Given the description of an element on the screen output the (x, y) to click on. 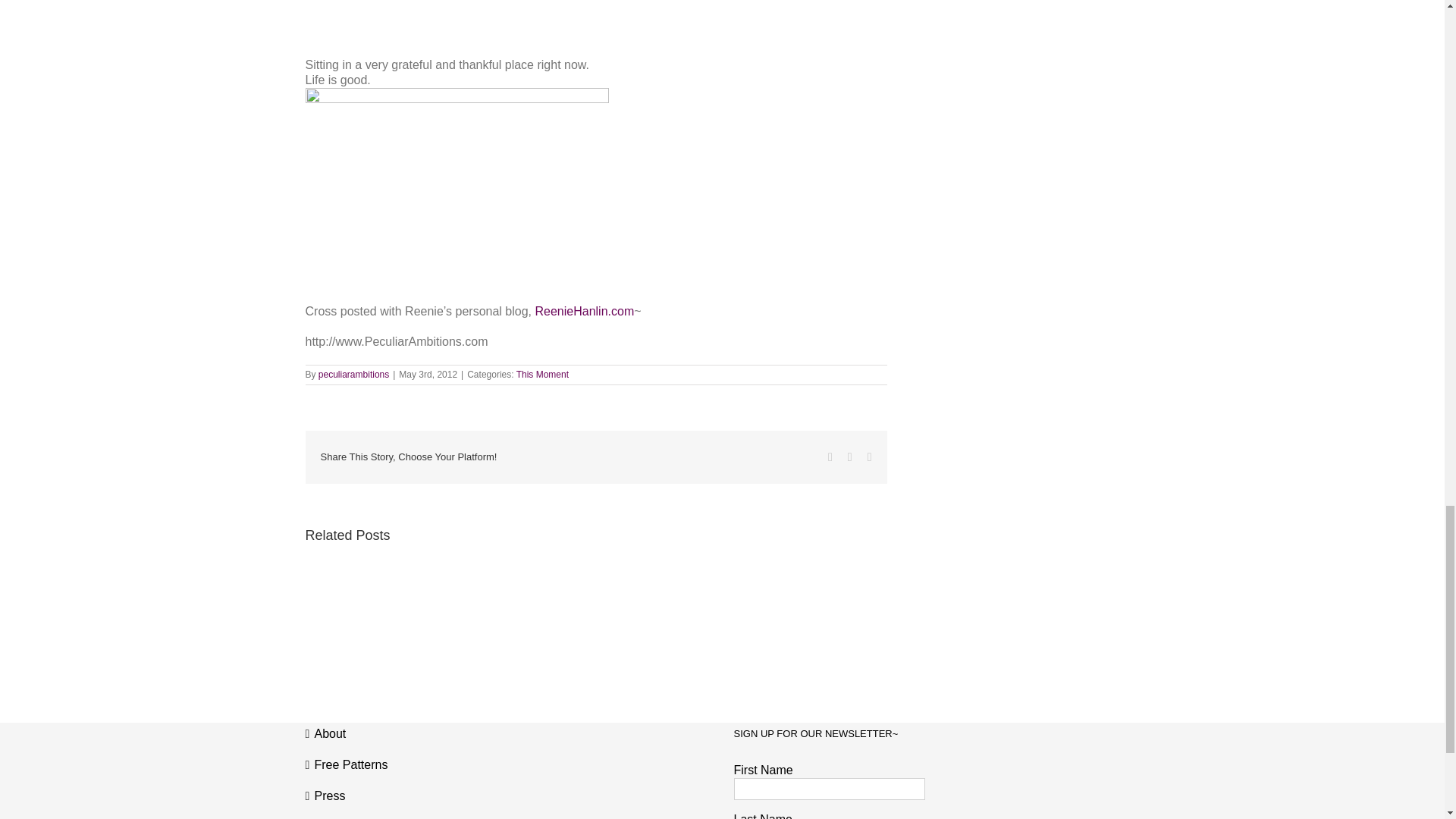
This Moment (542, 374)
ReenieHanlin.com (583, 310)
peculiarambitions (353, 374)
Posts by peculiarambitions (353, 374)
